Given the description of an element on the screen output the (x, y) to click on. 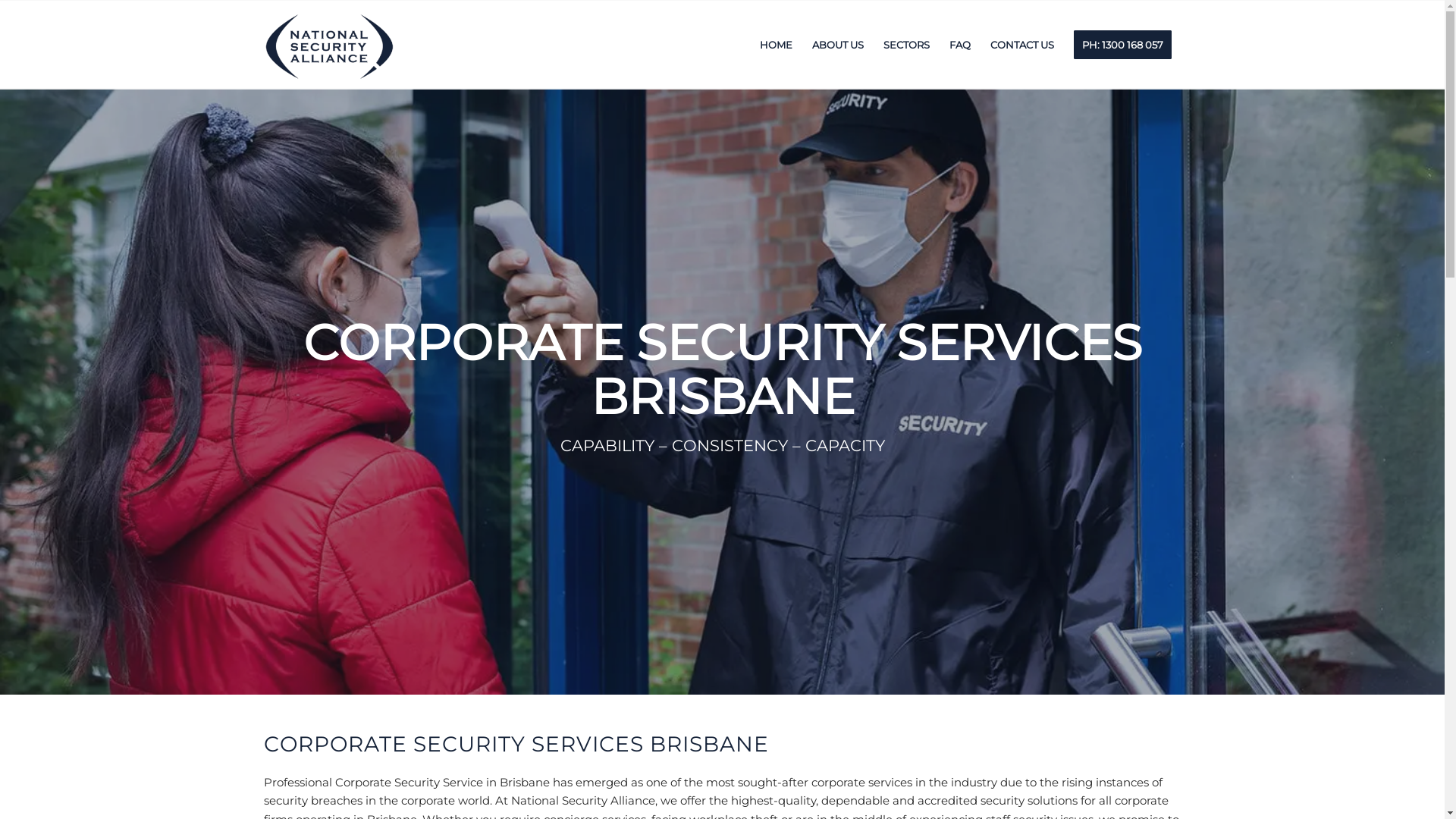
FAQ Element type: text (958, 44)
Security Guard Checking Temperature Element type: hover (722, 390)
PH: 1300 168 057 Element type: text (1121, 44)
CONTACT US Element type: text (1021, 44)
HOME Element type: text (775, 44)
SECTORS Element type: text (906, 44)
ABOUT US Element type: text (837, 44)
